Given the description of an element on the screen output the (x, y) to click on. 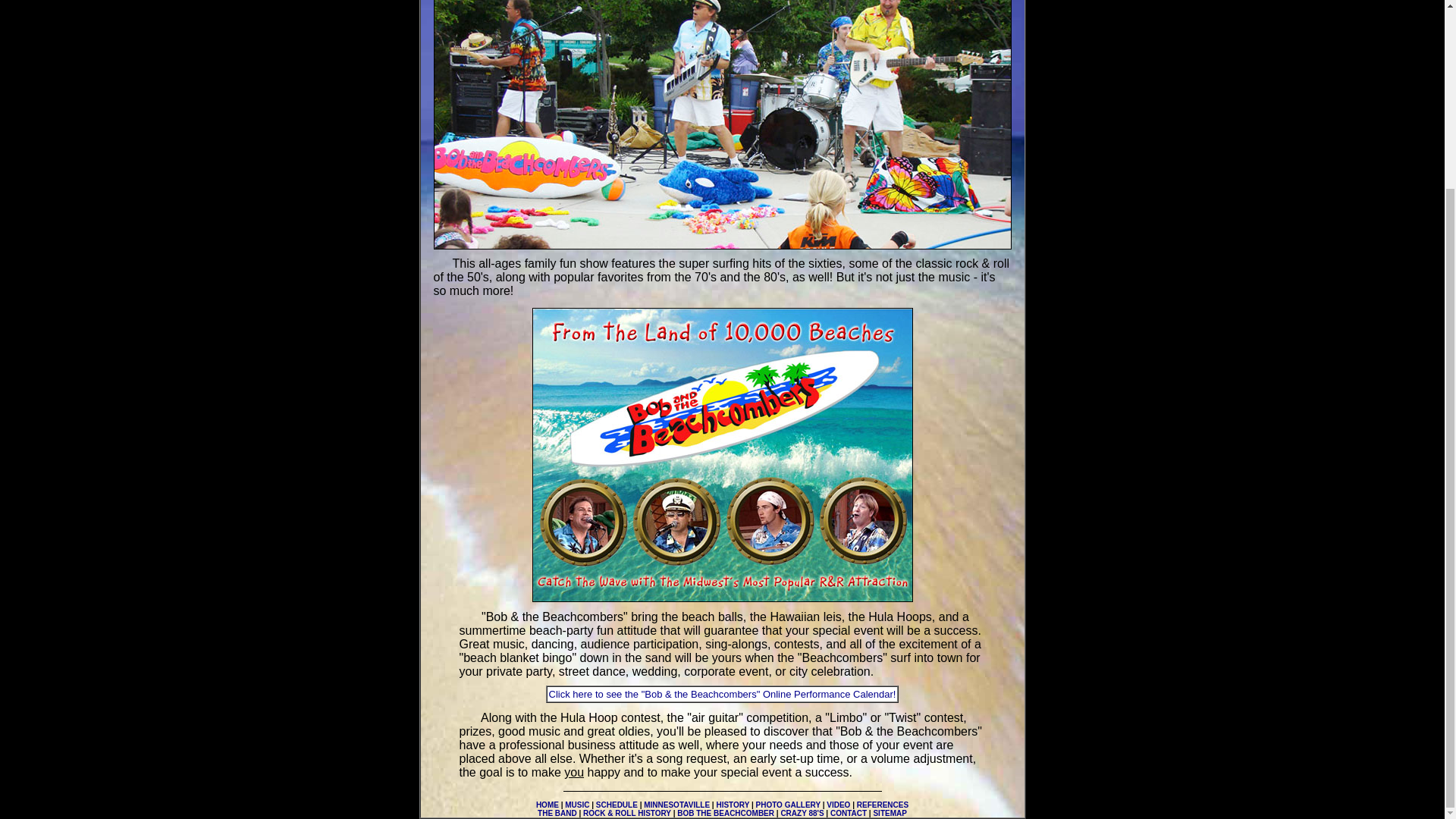
CONTACT (847, 813)
THE BAND (556, 813)
PHOTO GALLERY (788, 804)
MINNESOTAVILLE (676, 804)
SCHEDULE (616, 804)
HISTORY (732, 804)
BOB THE BEACHCOMBER (725, 813)
SITEMAP (888, 813)
MUSIC (576, 804)
CRAZY 88'S (802, 813)
HOME (547, 804)
REFERENCES (882, 804)
VIDEO (838, 804)
